Given the description of an element on the screen output the (x, y) to click on. 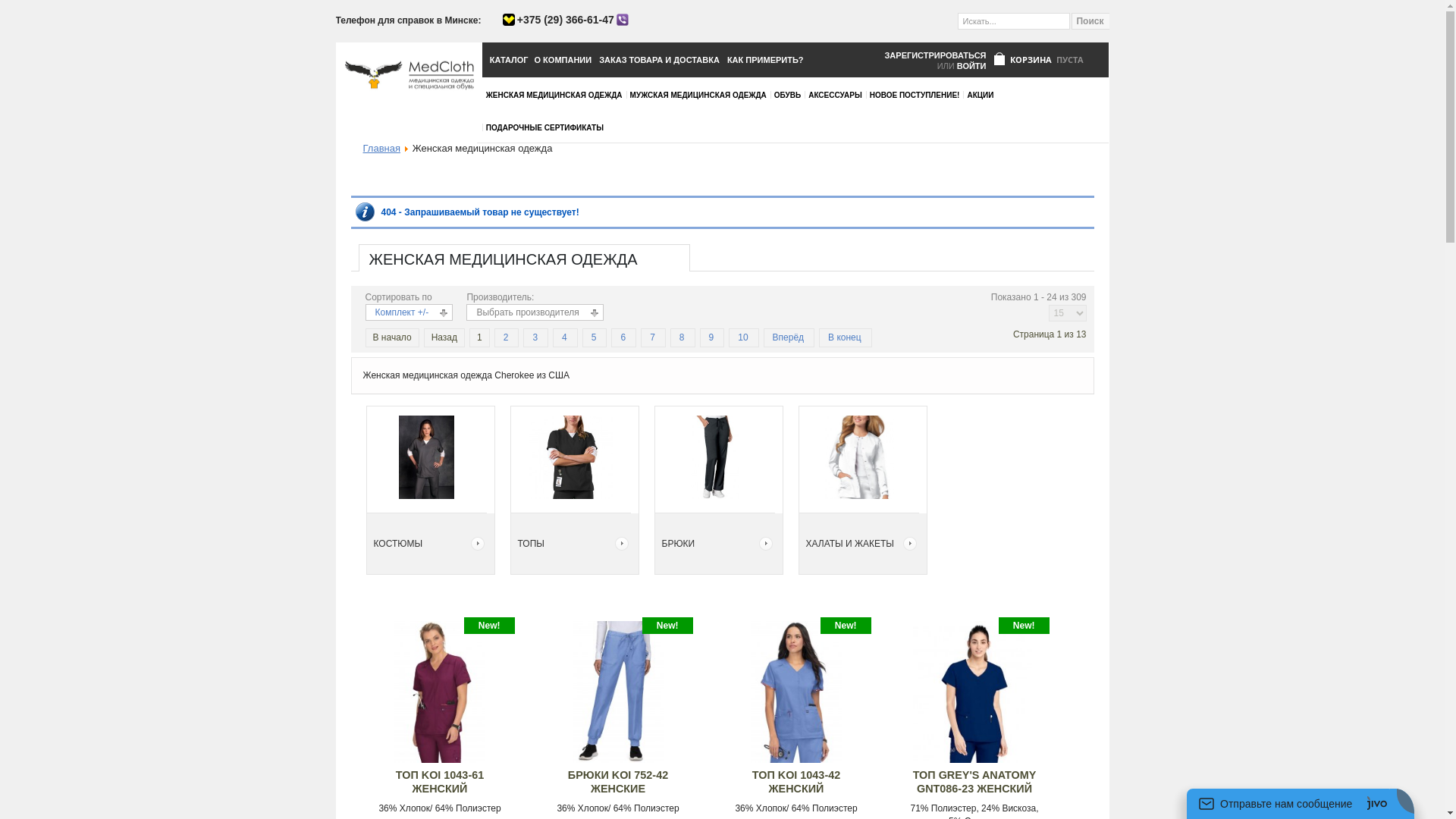
7 Element type: text (652, 337)
9 Element type: text (711, 337)
8 Element type: text (681, 337)
6 Element type: text (622, 337)
+375 (29) 366-61-47 Element type: text (565, 19)
10 Element type: text (742, 337)
2 Element type: text (506, 337)
3 Element type: text (534, 337)
4 Element type: text (564, 337)
5 Element type: text (593, 337)
